Given the description of an element on the screen output the (x, y) to click on. 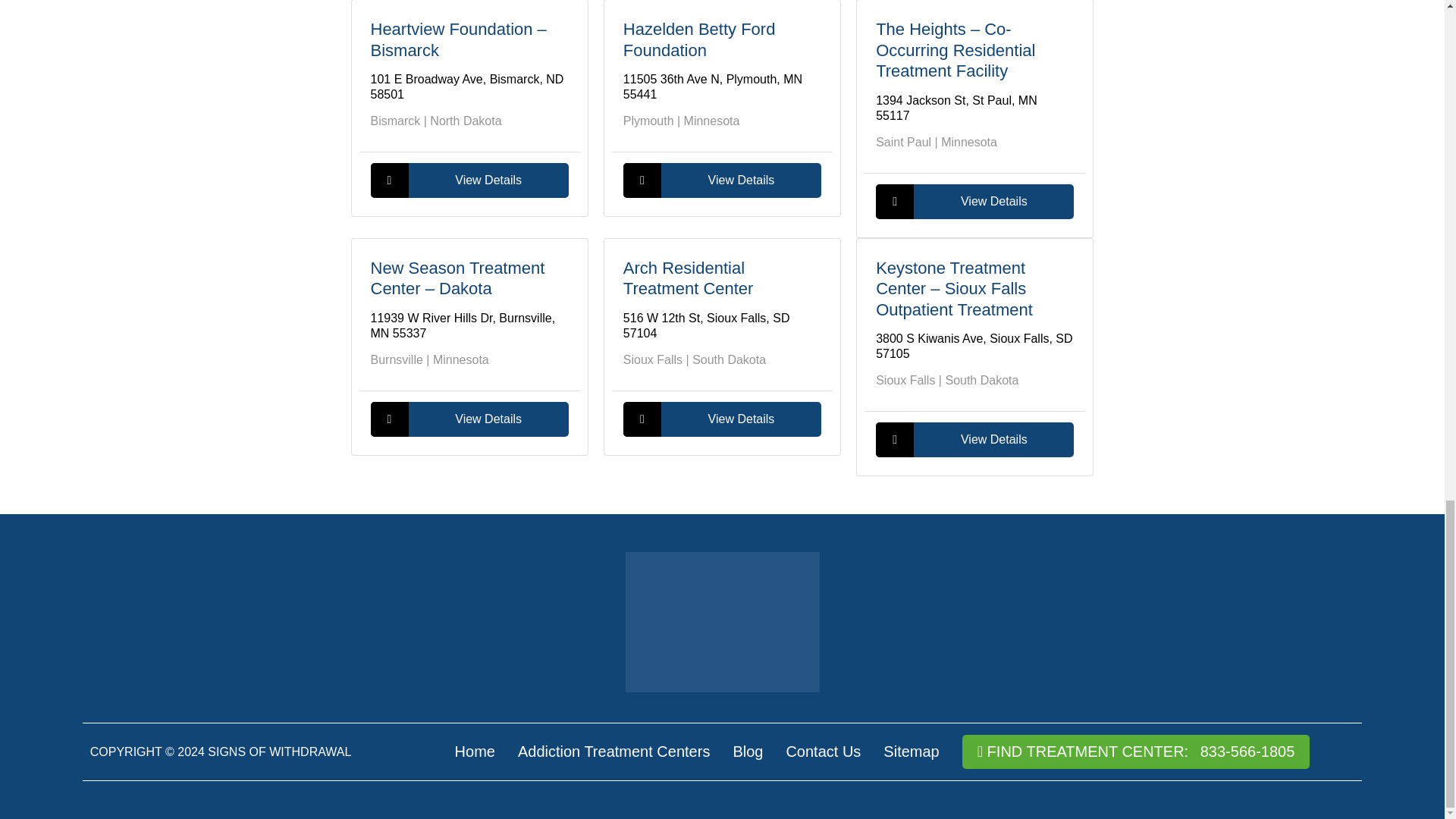
Contact Us (823, 751)
View Details (975, 201)
View Details (468, 418)
Blog (747, 751)
View Details (722, 418)
Home (474, 751)
View Details (468, 180)
Arch Residential Treatment Center (688, 278)
Hazelden Betty Ford Foundation (699, 39)
SIGNS OF WITHDRAWAL (279, 751)
